Given the description of an element on the screen output the (x, y) to click on. 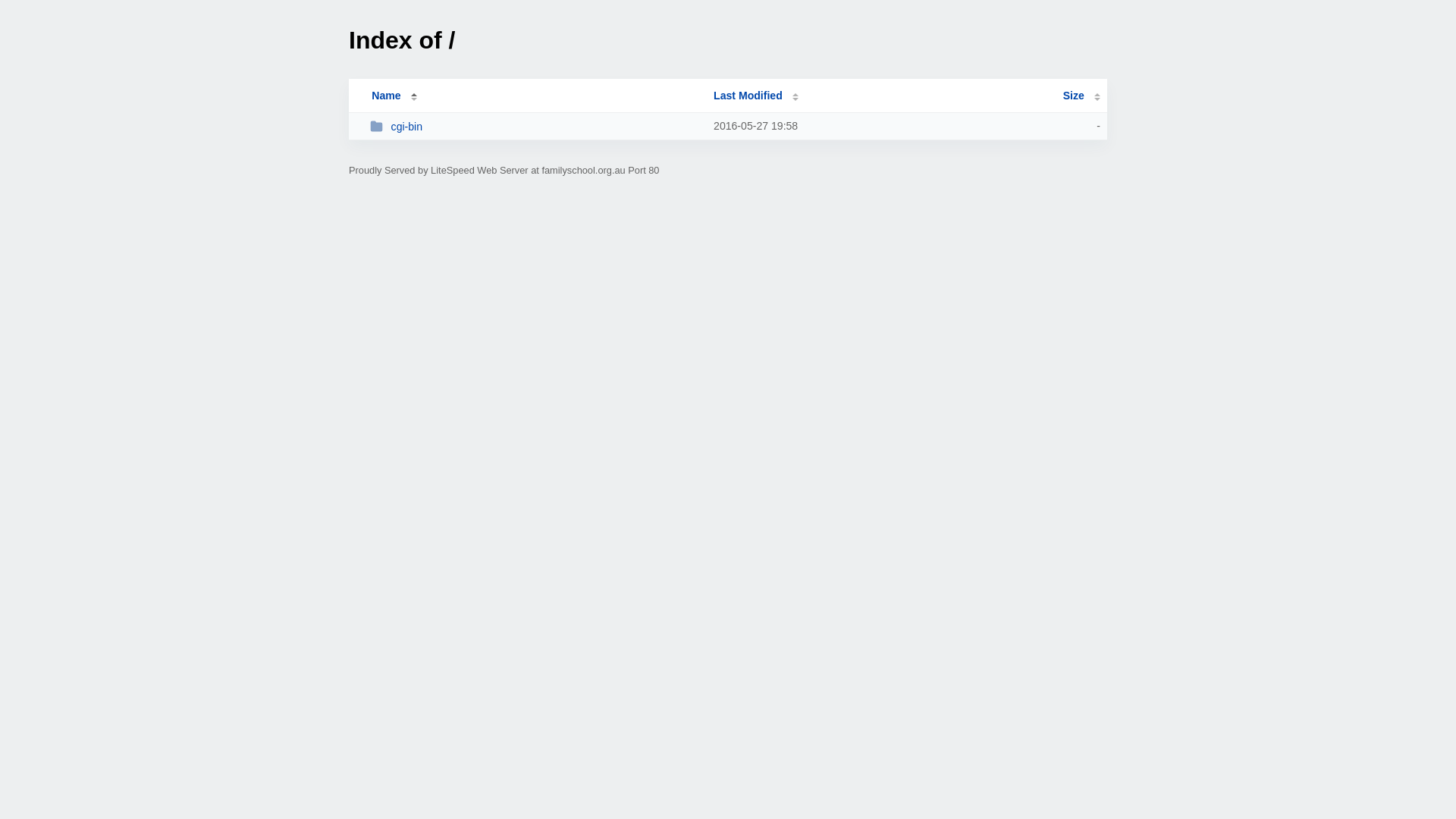
Size Element type: text (1081, 95)
Last Modified Element type: text (755, 95)
Name Element type: text (385, 95)
cgi-bin Element type: text (534, 125)
